Given the description of an element on the screen output the (x, y) to click on. 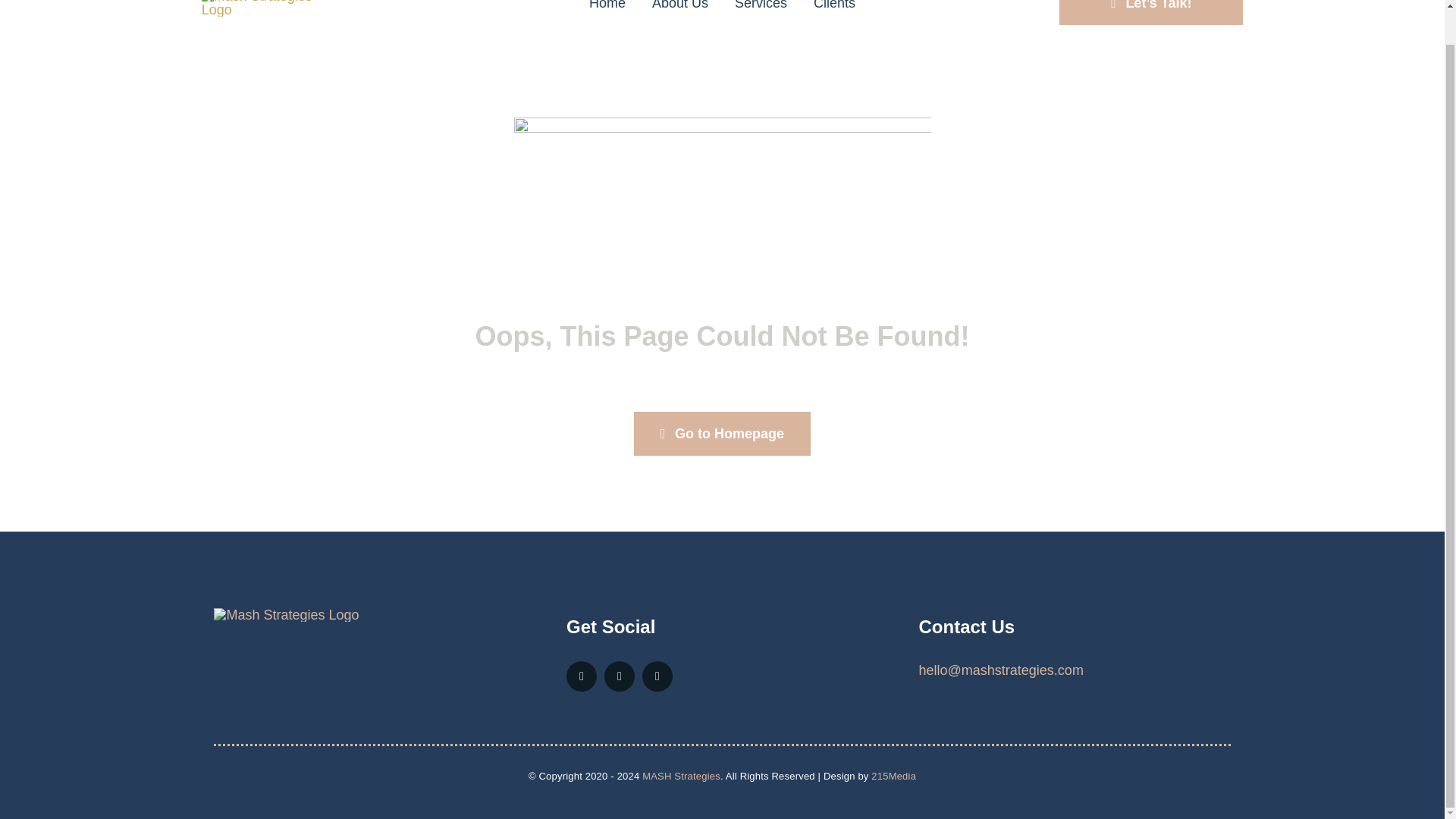
Services (761, 15)
About Us (679, 15)
Home (607, 15)
LinkedIn (657, 675)
Clients (834, 15)
Go to Homepage (721, 433)
Let's Talk (1151, 12)
MASH Strategies (681, 776)
Instagram (619, 675)
215Media (892, 776)
